Given the description of an element on the screen output the (x, y) to click on. 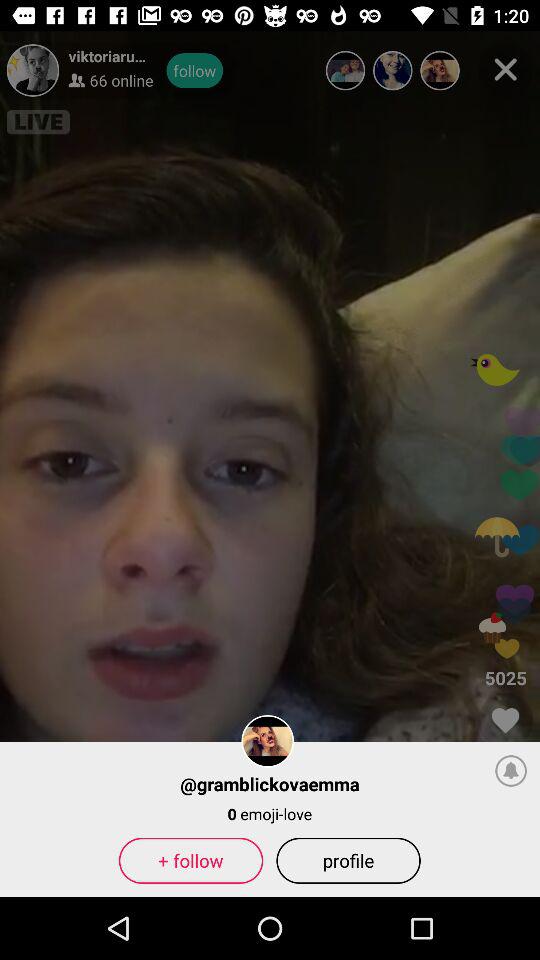
switch notification option (511, 770)
